Given the description of an element on the screen output the (x, y) to click on. 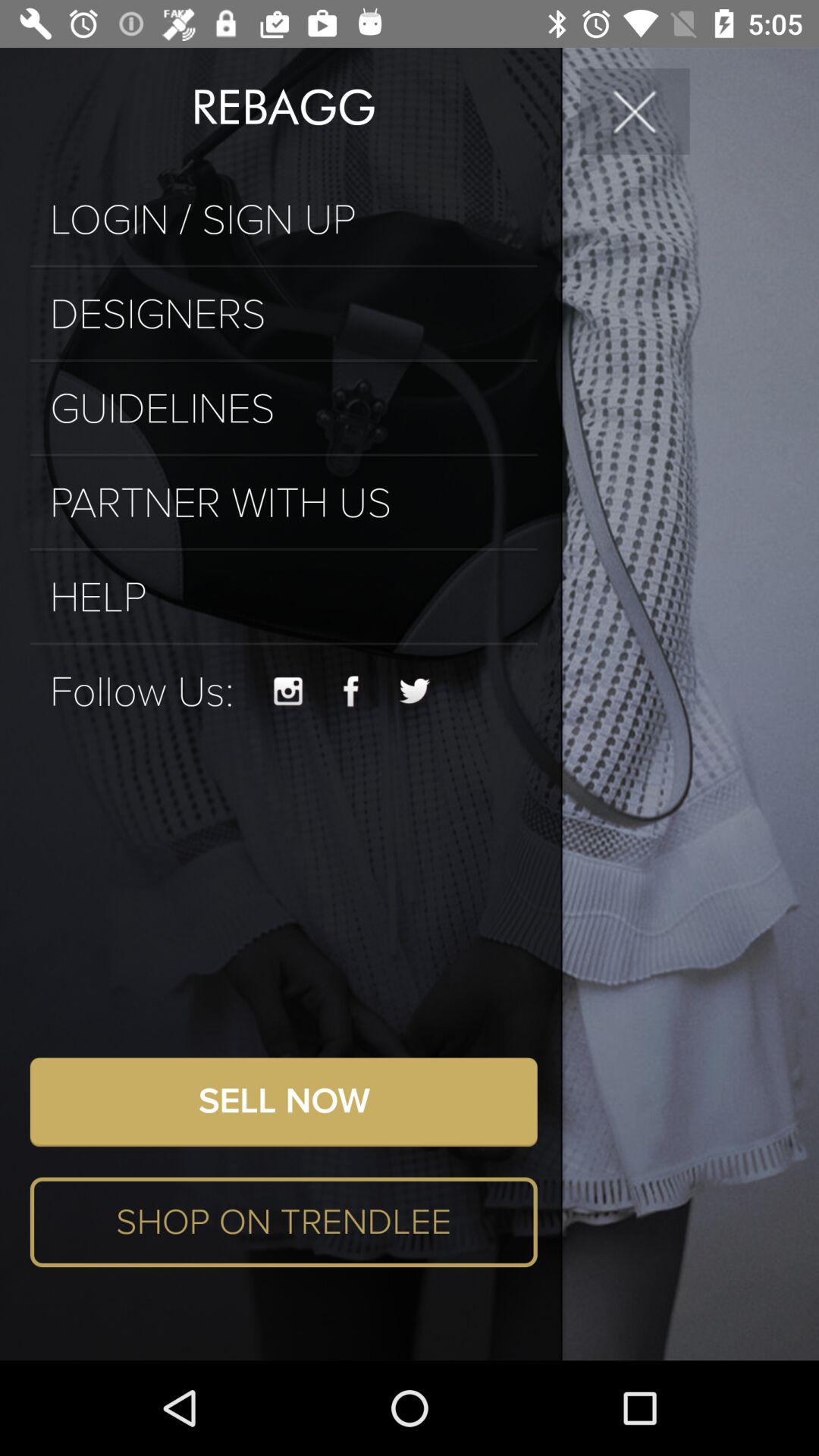
swipe until shop on trendlee (283, 1222)
